Given the description of an element on the screen output the (x, y) to click on. 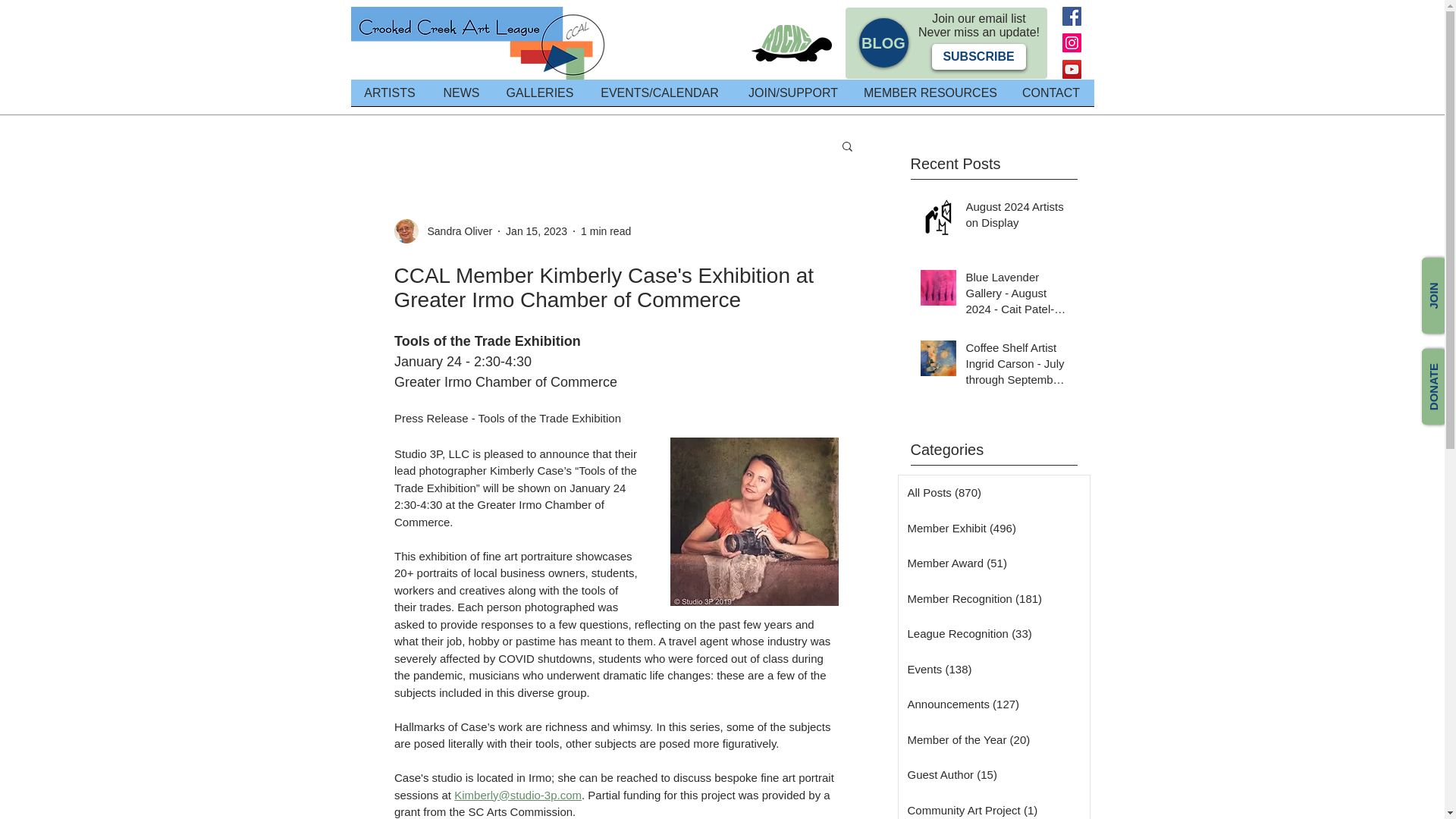
BLOG (883, 42)
Turtle ROCKS.png (791, 43)
NEWS (462, 97)
Sandra Oliver (456, 230)
GALLERIES (540, 97)
SUBSCRIBE (978, 56)
1 min read (605, 230)
MEMBER RESOURCES (929, 97)
ARTISTS (389, 97)
Jan 15, 2023 (536, 230)
